Given the description of an element on the screen output the (x, y) to click on. 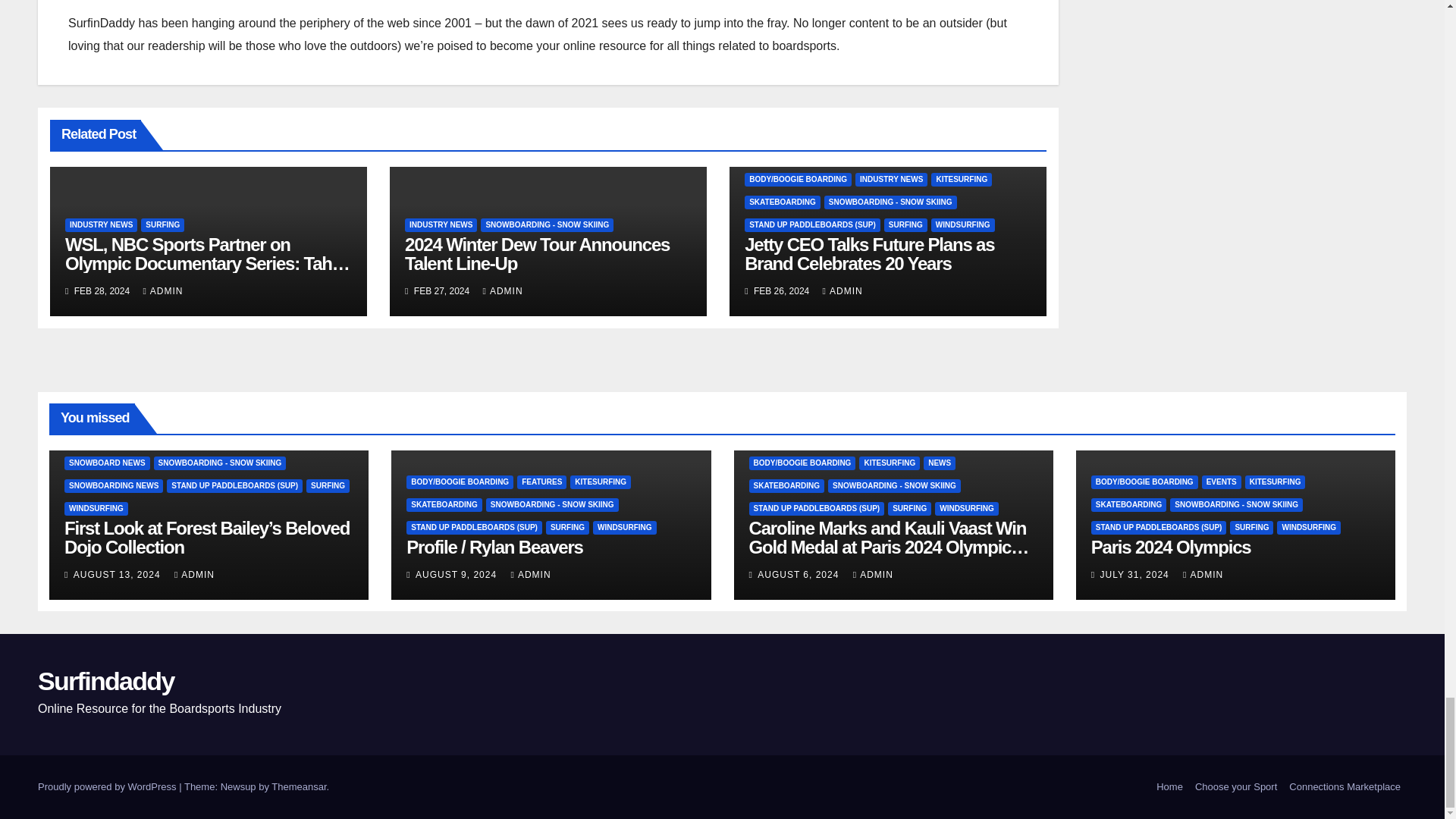
INDUSTRY NEWS (100, 224)
SURFING (162, 224)
Permalink to: 2024 Winter Dew Tour Announces Talent Line-Up (536, 253)
